Given the description of an element on the screen output the (x, y) to click on. 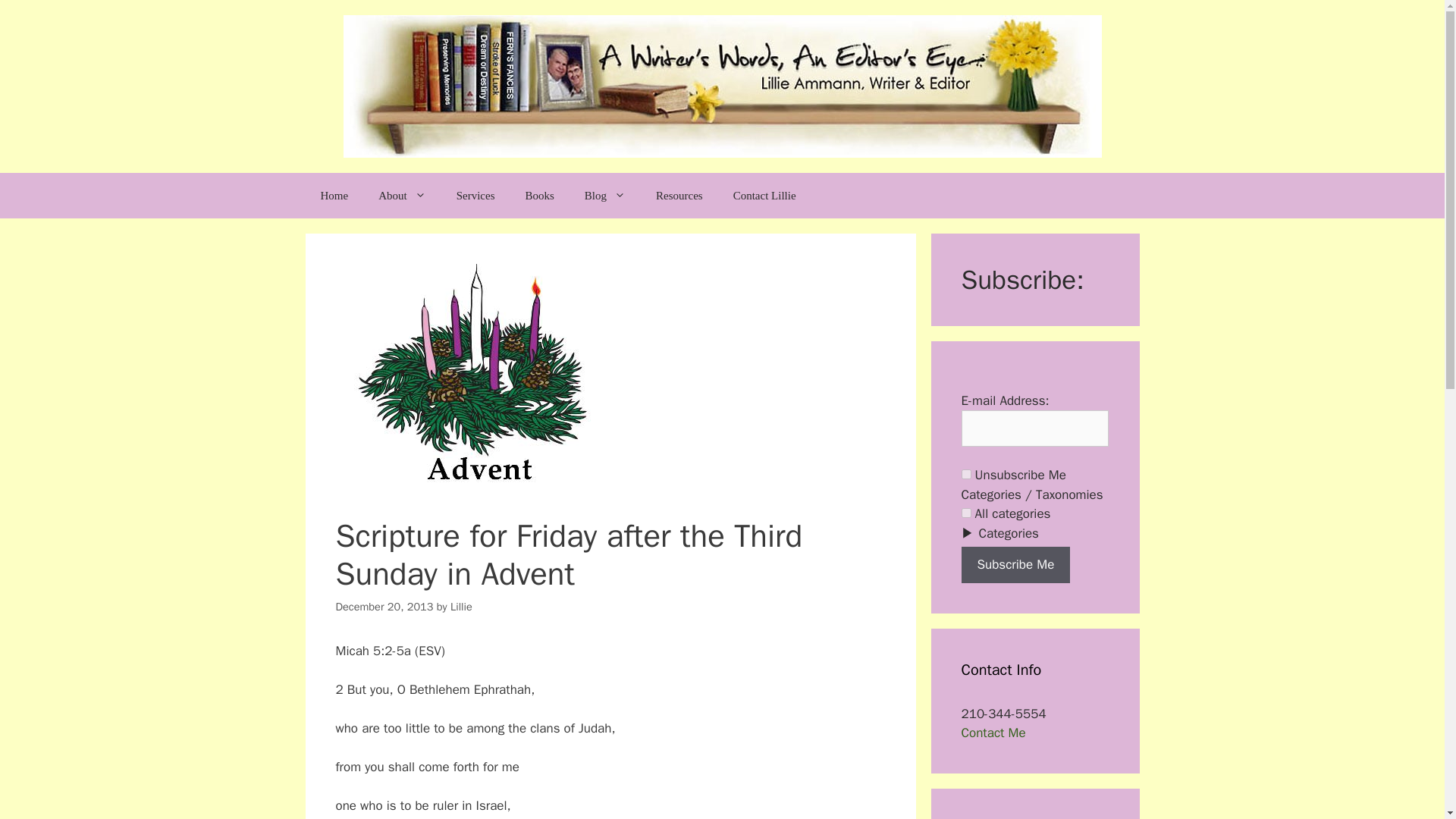
Resources (678, 195)
Home (333, 195)
Search (35, 18)
Services (476, 195)
1 (965, 474)
About (401, 195)
1 (965, 512)
Books (539, 195)
Subscribe Me (1015, 565)
Contact Me (993, 732)
Lillie (460, 606)
Contact Lillie (763, 195)
Blog (604, 195)
View all posts by Lillie (460, 606)
